Given the description of an element on the screen output the (x, y) to click on. 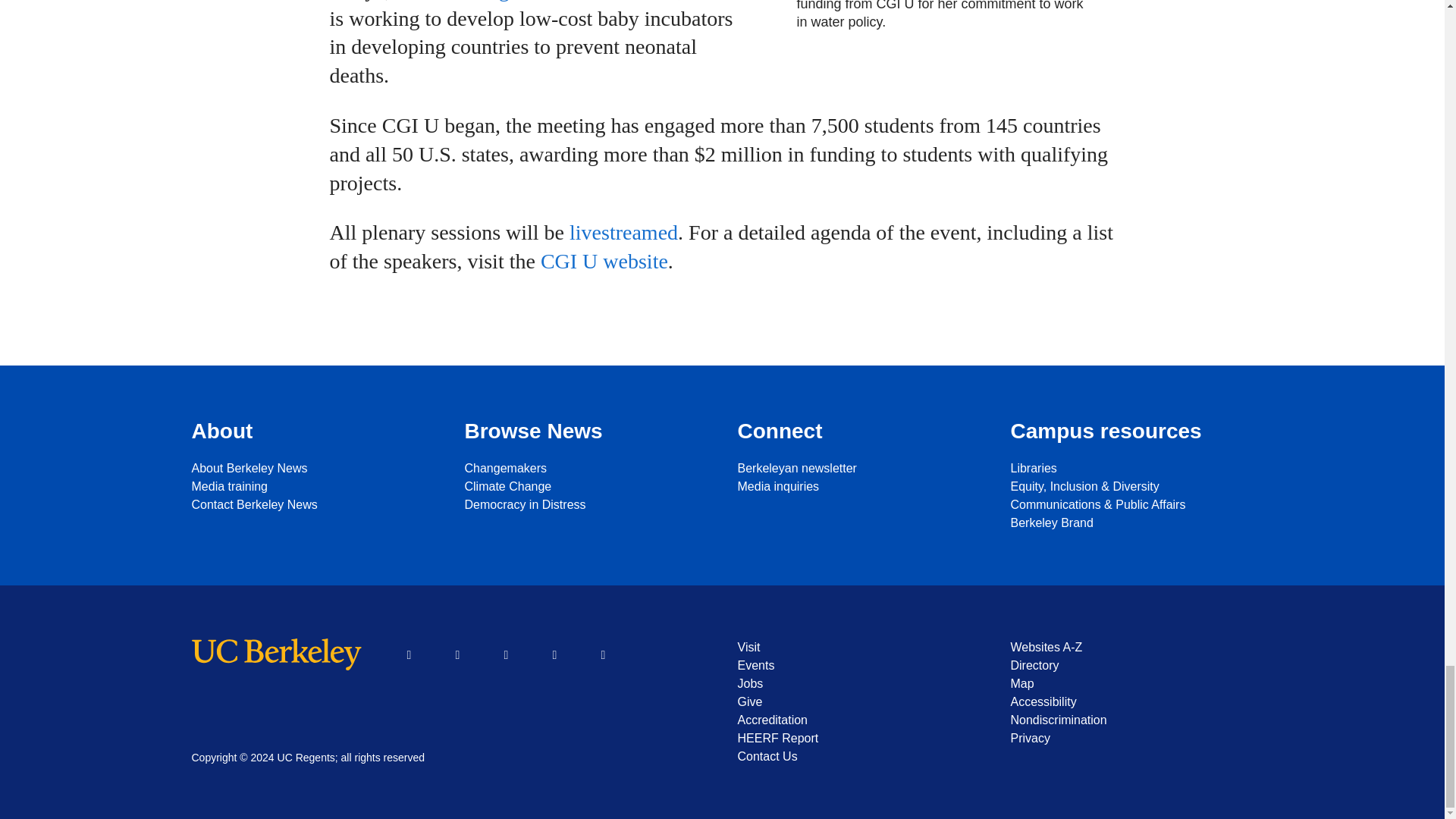
Kanga Kare (513, 0)
Democracy in Distress (585, 505)
CGI U website (604, 260)
Climate Change (585, 486)
Media inquiries (857, 486)
Give (857, 701)
Berkeley Brand (1131, 523)
Facebook (409, 654)
livestreamed (623, 232)
Media training (311, 486)
